Given the description of an element on the screen output the (x, y) to click on. 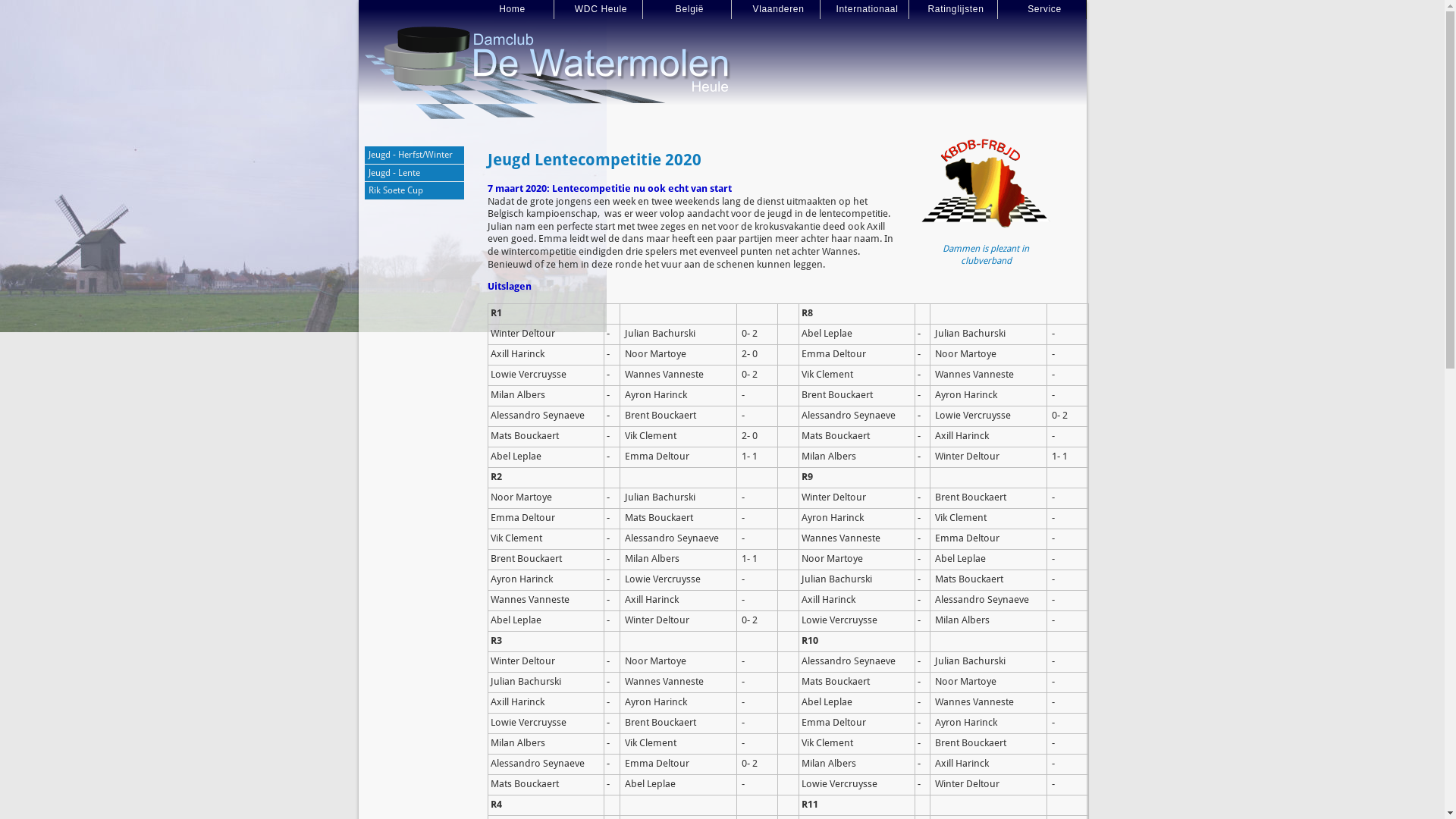
Internationaal Element type: text (864, 9)
Home Element type: text (509, 9)
Dammen is plezant in clubverband Element type: text (985, 254)
Vlaanderen Element type: text (775, 9)
Service Element type: text (1041, 9)
Ratinglijsten Element type: text (952, 9)
Jeugd - Herfst/Winter Element type: text (413, 155)
Jeugd - Lente Element type: text (413, 173)
Rik Soete Cup Element type: text (413, 191)
WDC Heule Element type: text (597, 9)
